Given the description of an element on the screen output the (x, y) to click on. 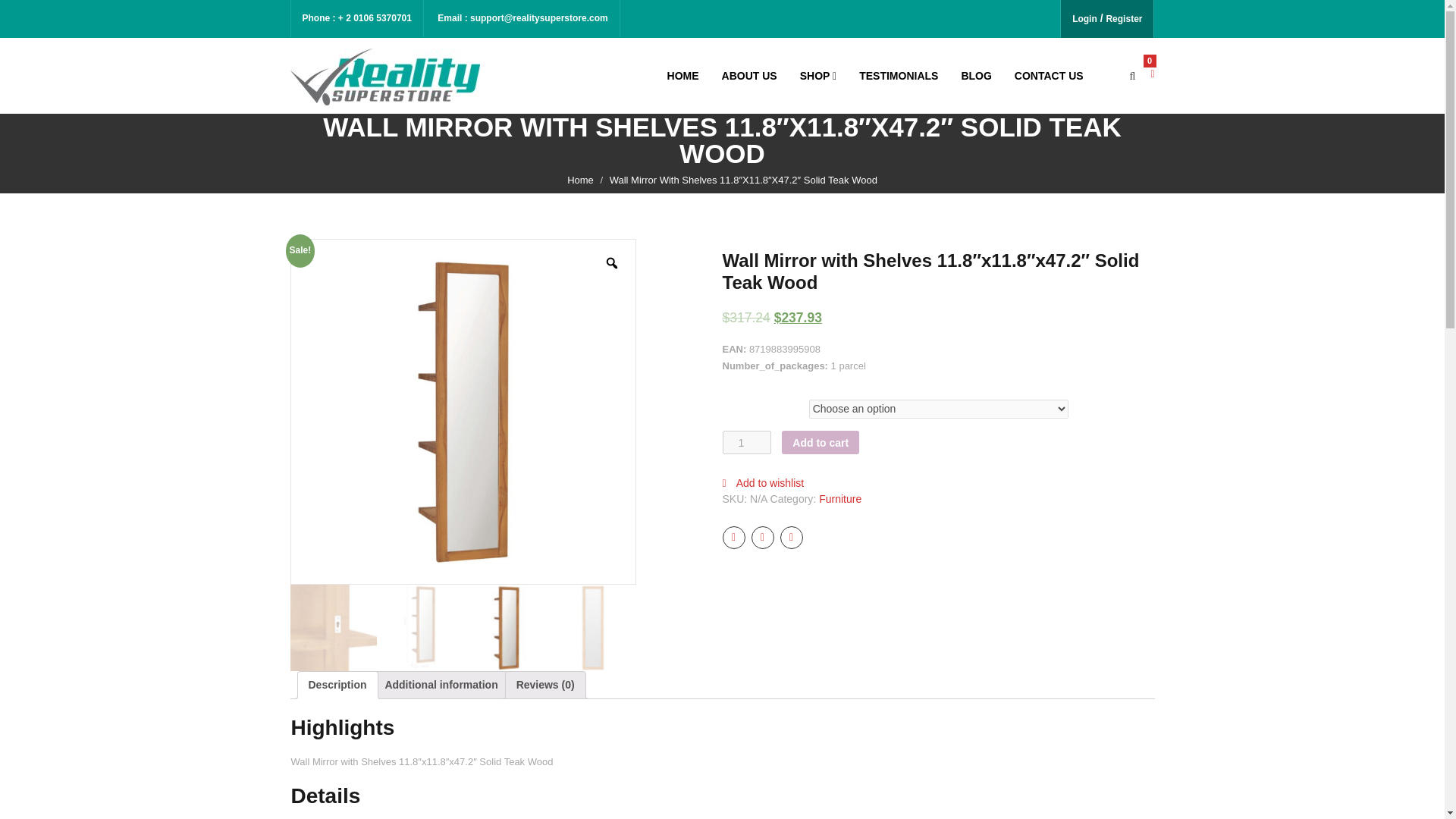
Login (1084, 18)
CONTACT US (1048, 75)
Furniture (839, 499)
Add to cart (820, 442)
TESTIMONIALS (898, 75)
Add to wishlist (762, 482)
Register (1123, 18)
Description (336, 684)
Additional information (440, 684)
1 (746, 442)
Home (580, 179)
